Given the description of an element on the screen output the (x, y) to click on. 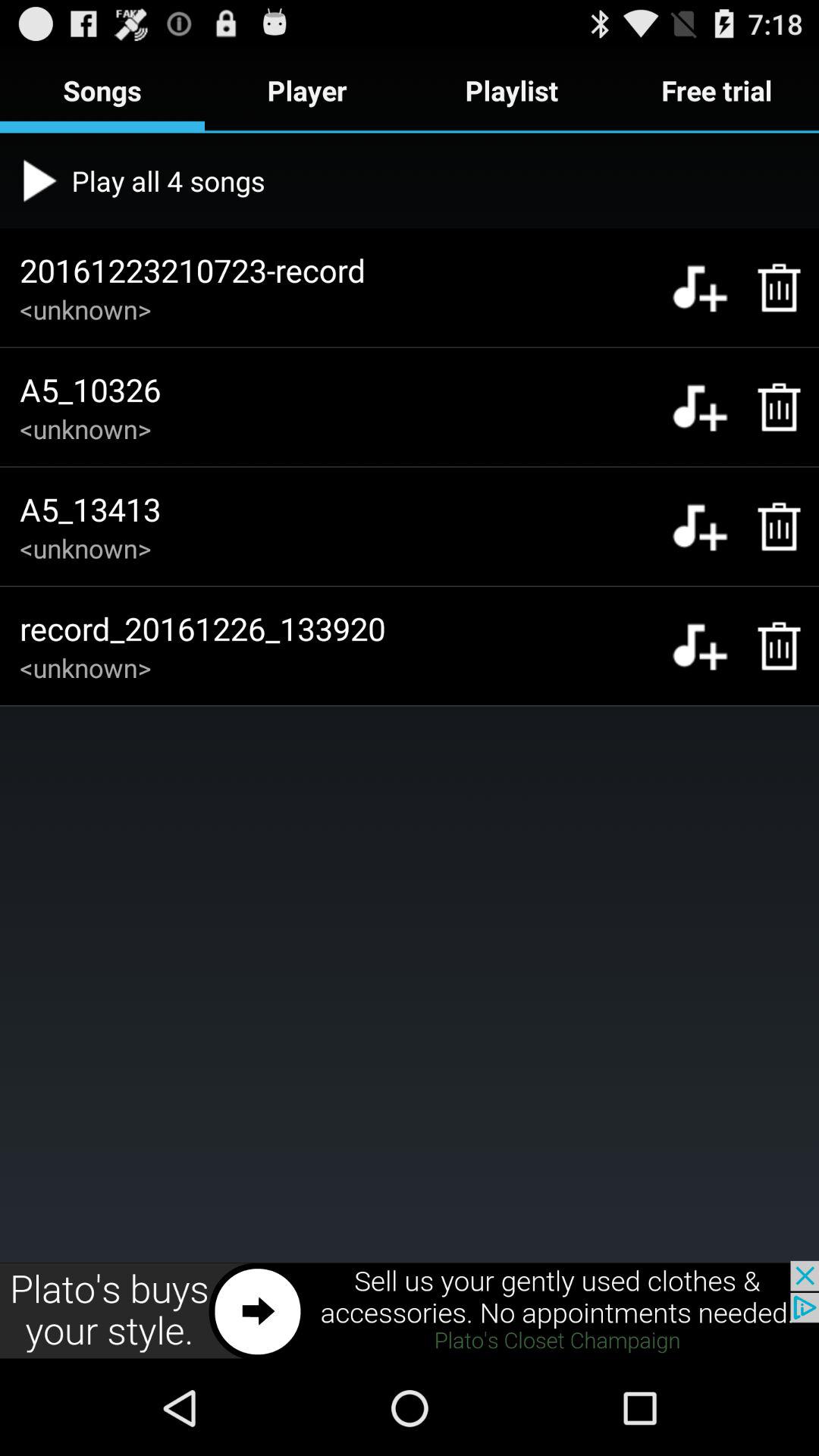
advertisement adding button (409, 1310)
